Given the description of an element on the screen output the (x, y) to click on. 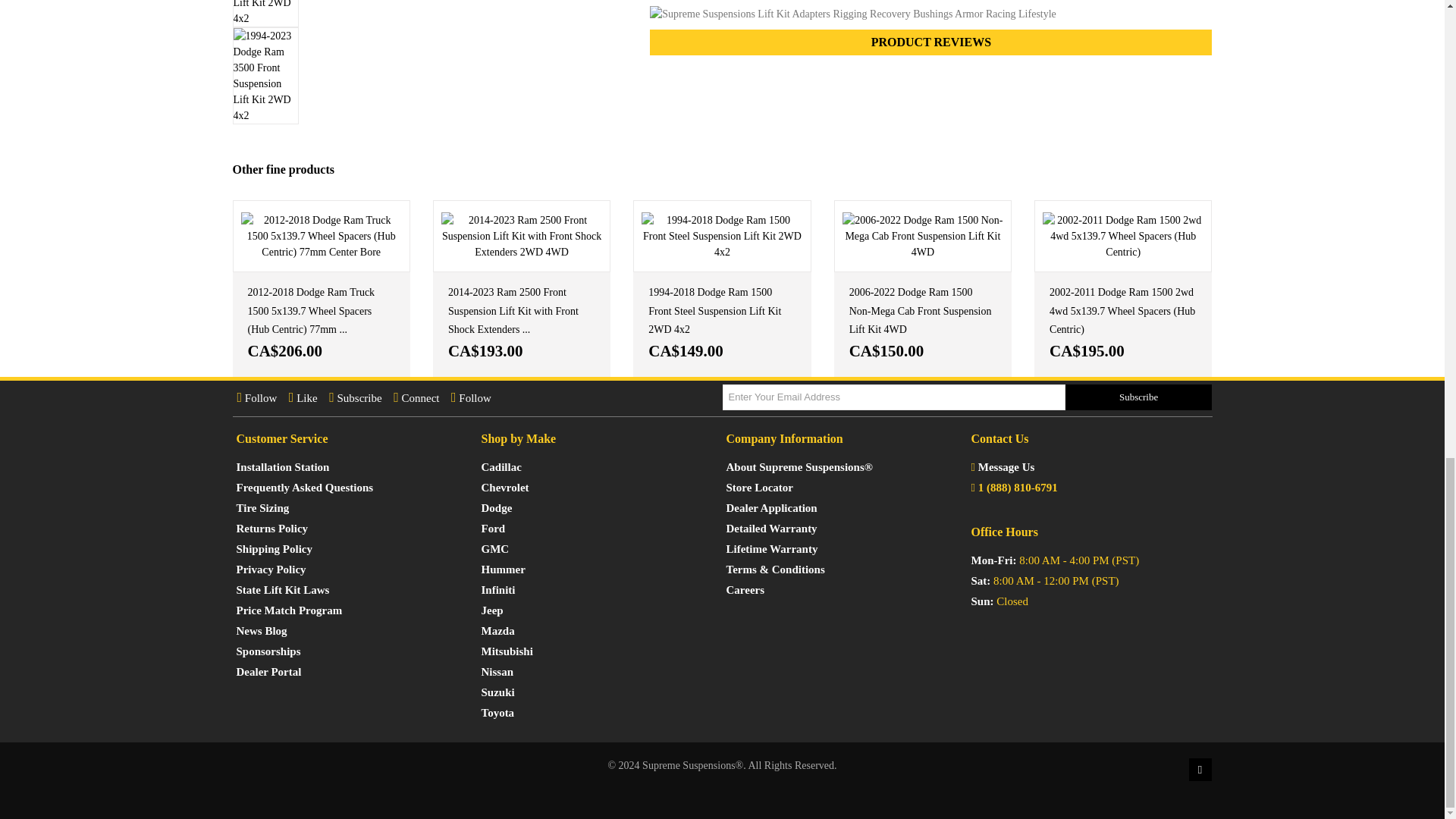
Subscribe (1138, 397)
